Given the description of an element on the screen output the (x, y) to click on. 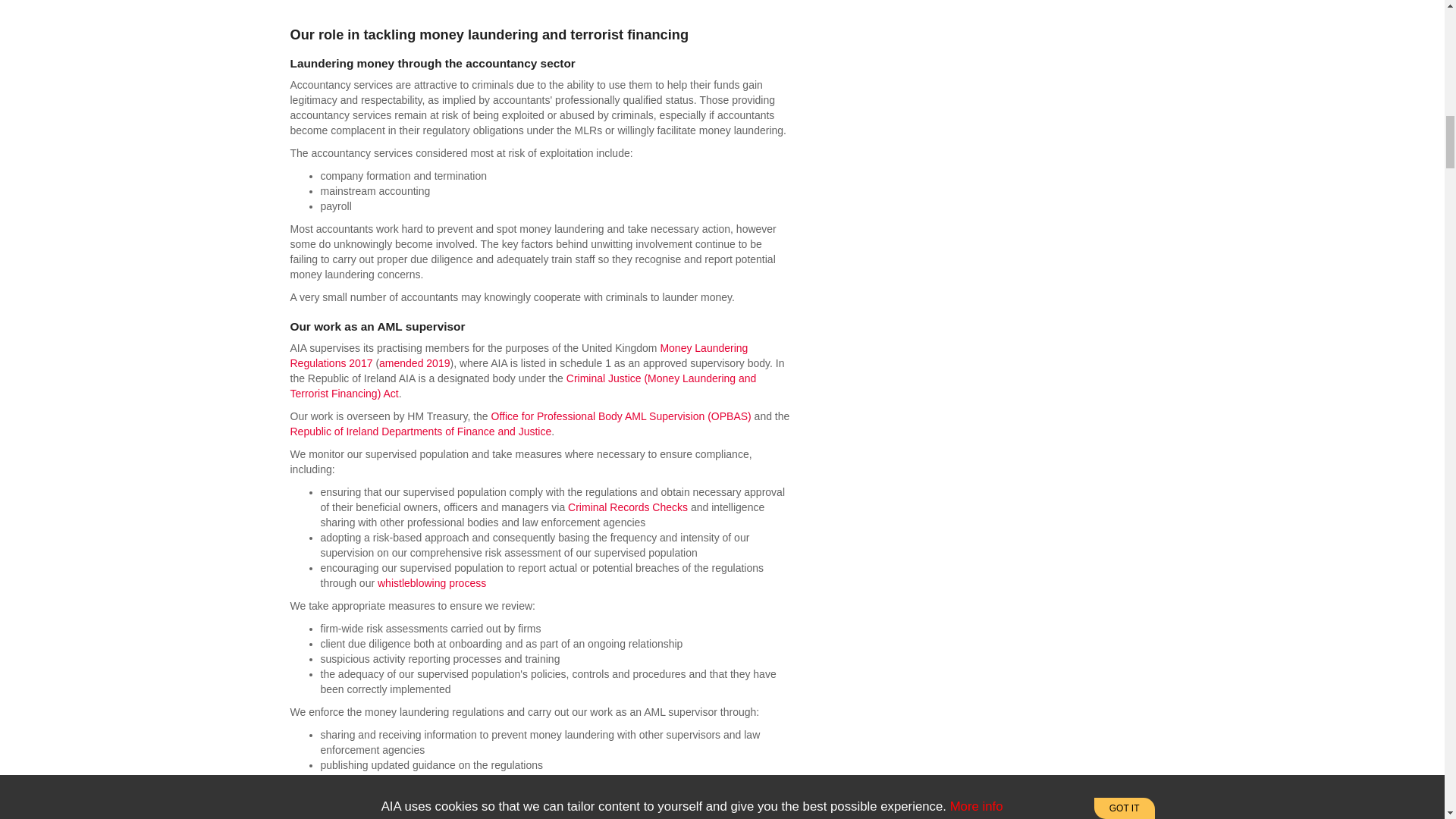
Criminal Record Checks (627, 507)
Money Laundering Regulations 2017 (518, 355)
OPBAS (621, 416)
Money Laundering Regulations amended 2019 (413, 363)
Make a Complaint (431, 582)
AMLCU (420, 431)
Criminal Justice Act (522, 385)
